Given the description of an element on the screen output the (x, y) to click on. 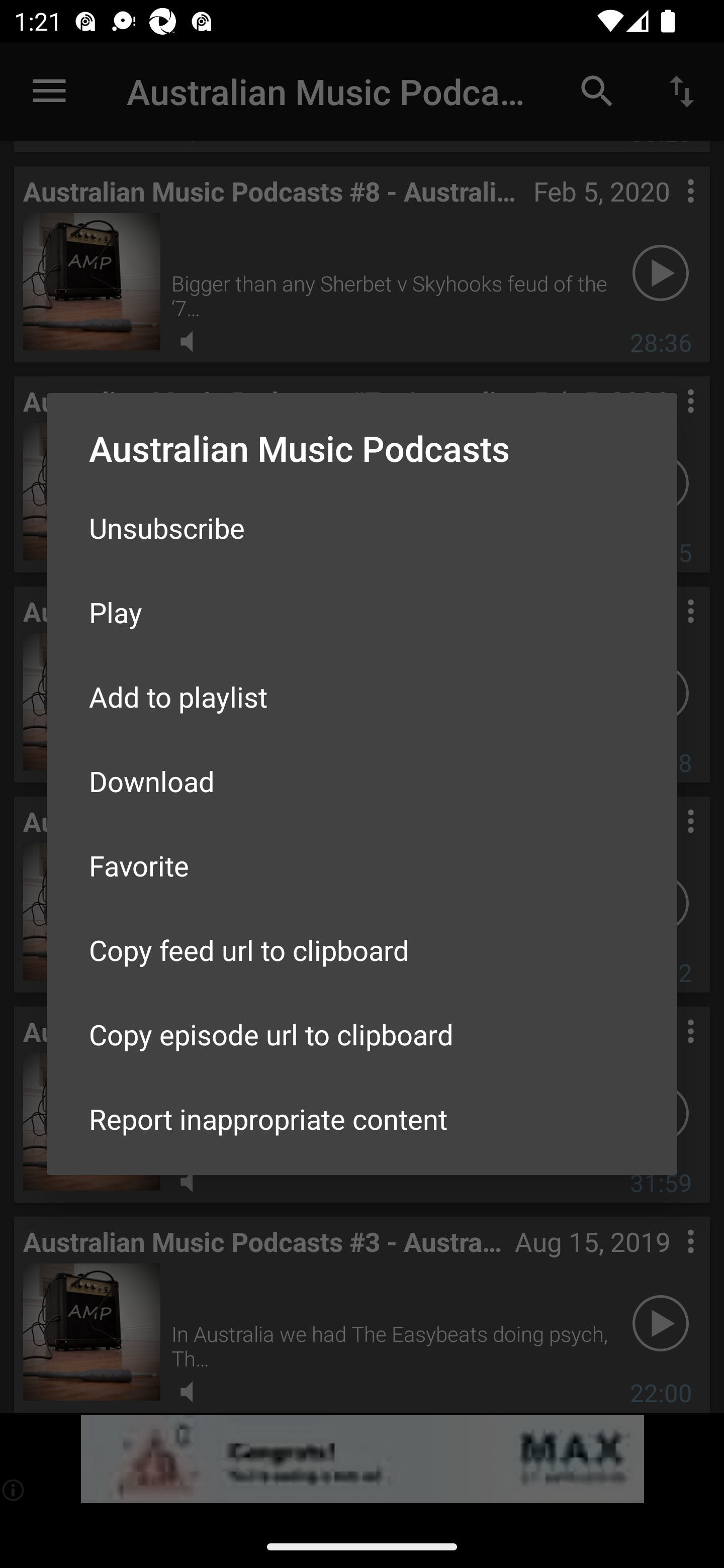
Unsubscribe (361, 527)
Play (361, 611)
Add to playlist (361, 695)
Download (361, 780)
Favorite (361, 865)
Copy feed url to clipboard (361, 949)
Copy episode url to clipboard (361, 1034)
Report inappropriate content (361, 1118)
